Given the description of an element on the screen output the (x, y) to click on. 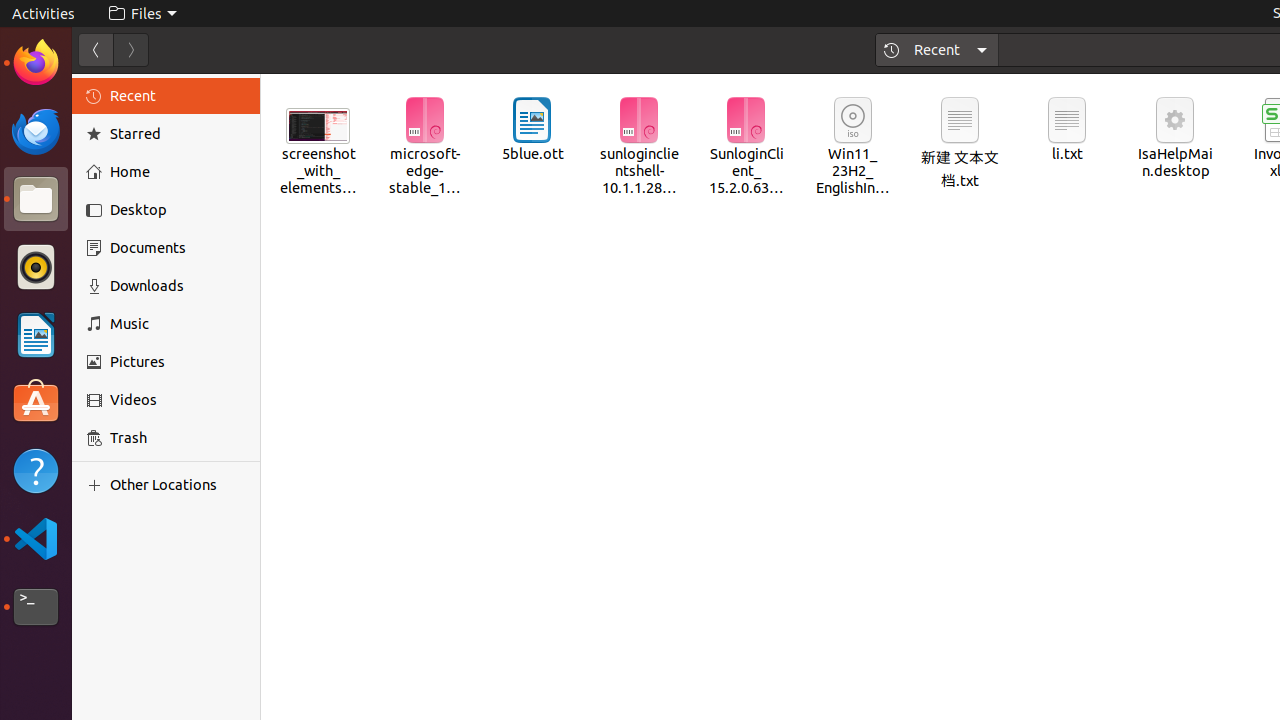
Starred Element type: label (178, 134)
新建 文本文档.txt Element type: canvas (960, 144)
Music Element type: label (178, 324)
IsaHelpMain.desktop Element type: canvas (1175, 138)
IsaHelpMain.desktop Element type: label (133, 300)
